Given the description of an element on the screen output the (x, y) to click on. 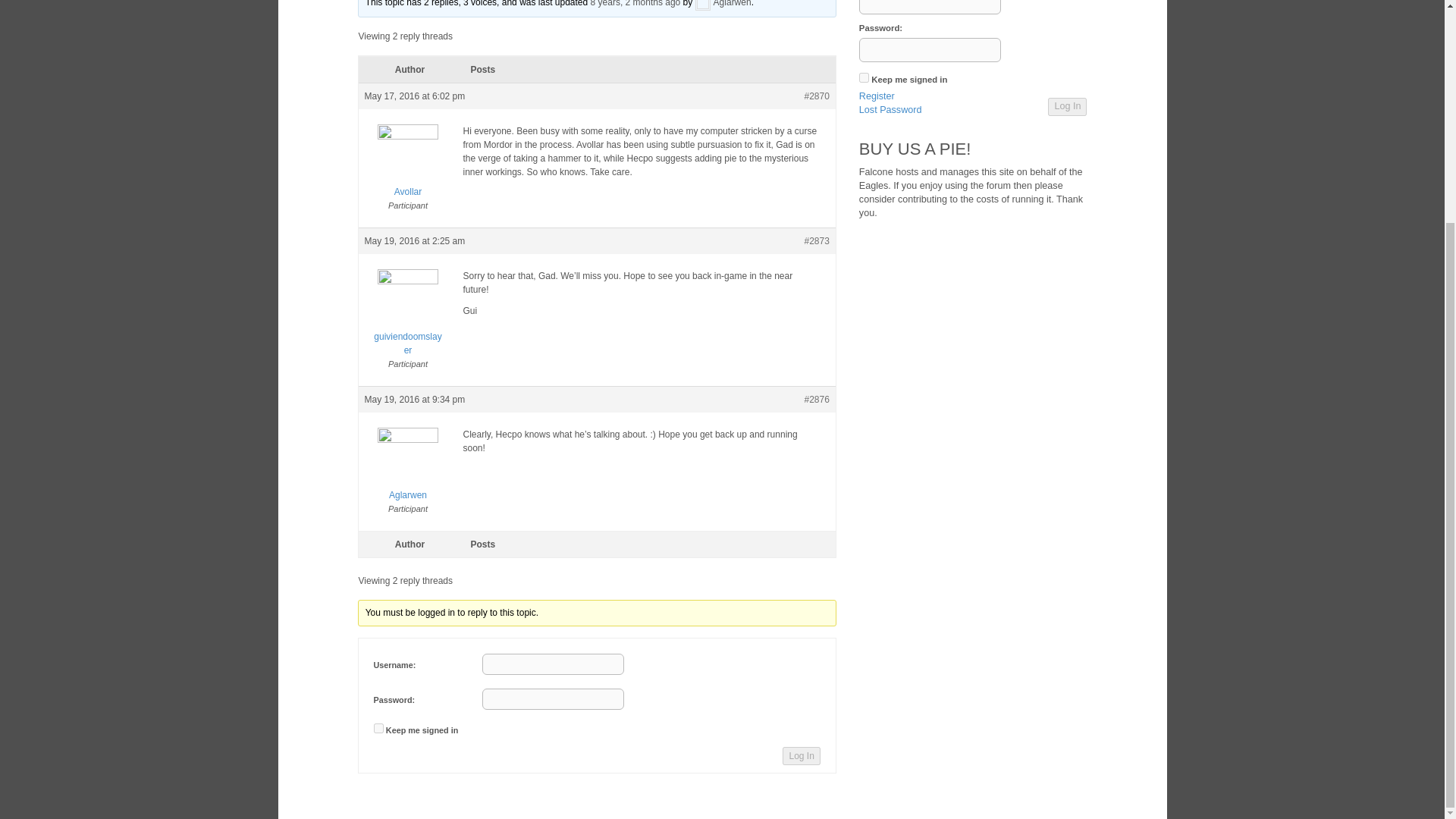
Lost Password (890, 110)
8 years, 2 months ago (636, 3)
View Avollar's profile (407, 171)
Log In (801, 755)
View Aglarwen's profile (407, 474)
Register (877, 97)
guiviendoomslayer (407, 323)
Lost Password (890, 110)
forever (377, 728)
Log In (1067, 106)
View Aglarwen's profile (723, 3)
Register (877, 97)
Avollar (407, 171)
forever (864, 77)
Reply To: Sauron's revenge (636, 3)
